Given the description of an element on the screen output the (x, y) to click on. 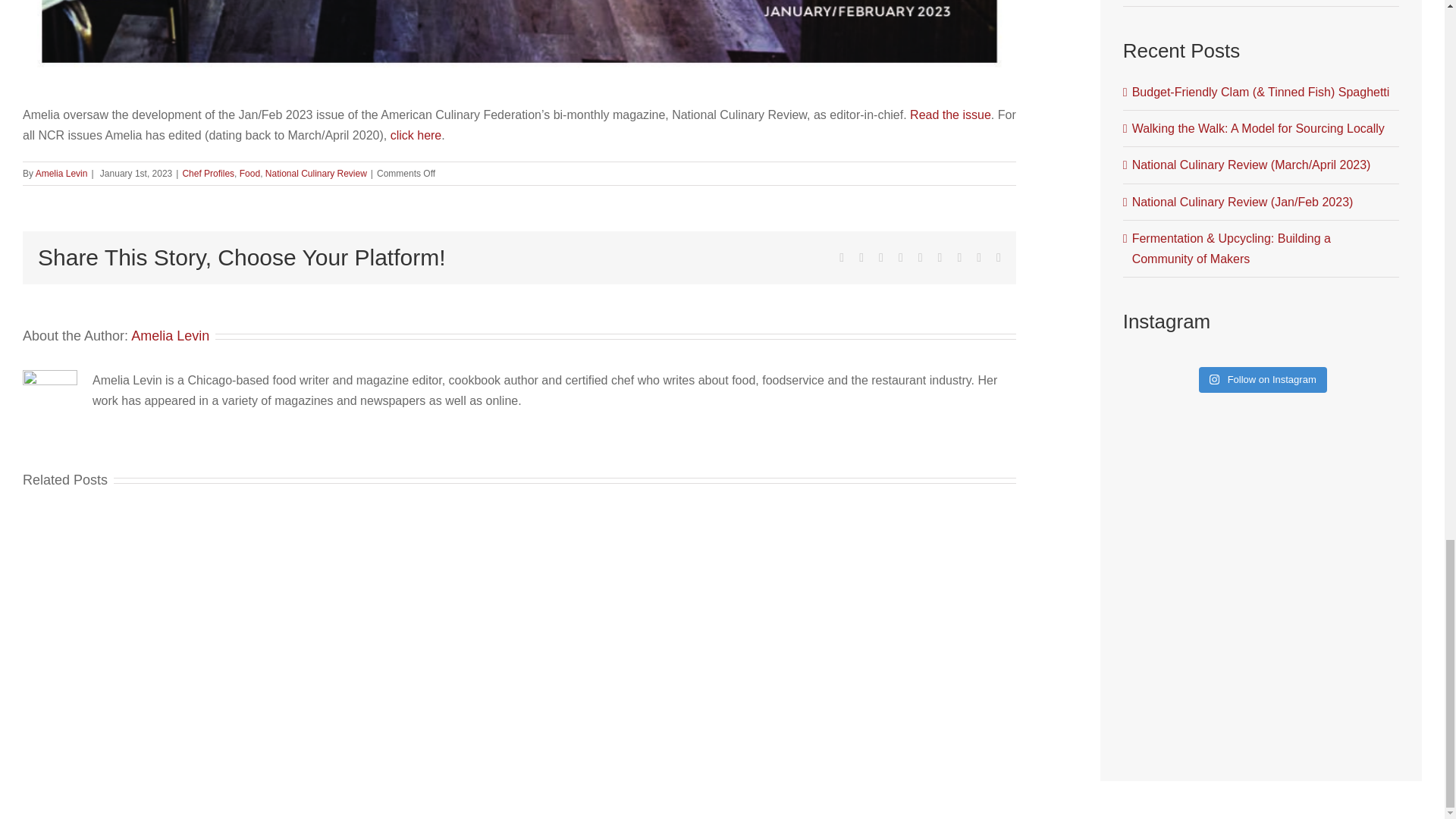
Food (250, 173)
Posts by Amelia Levin (60, 173)
Posts by Amelia Levin (170, 335)
click here (416, 134)
View Larger Image (519, 40)
Read the issue (950, 114)
National Culinary Review (315, 173)
Chef Profiles (208, 173)
Amelia Levin (60, 173)
